Given the description of an element on the screen output the (x, y) to click on. 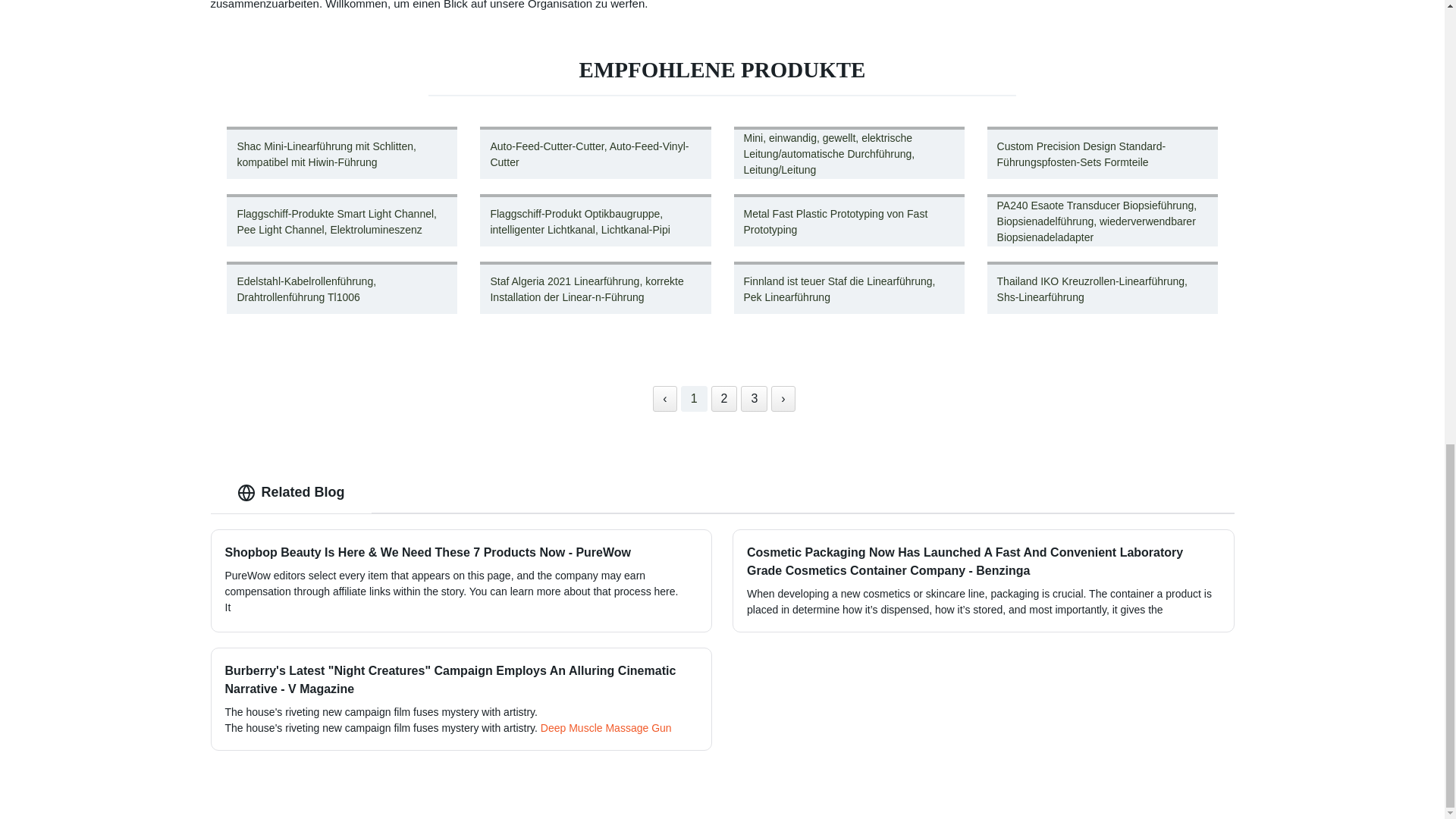
Metal Fast Plastic Prototyping von Fast Prototyping (848, 219)
Auto-Feed-Cutter-Cutter, Auto-Feed-Vinyl-Cutter (595, 152)
